Given the description of an element on the screen output the (x, y) to click on. 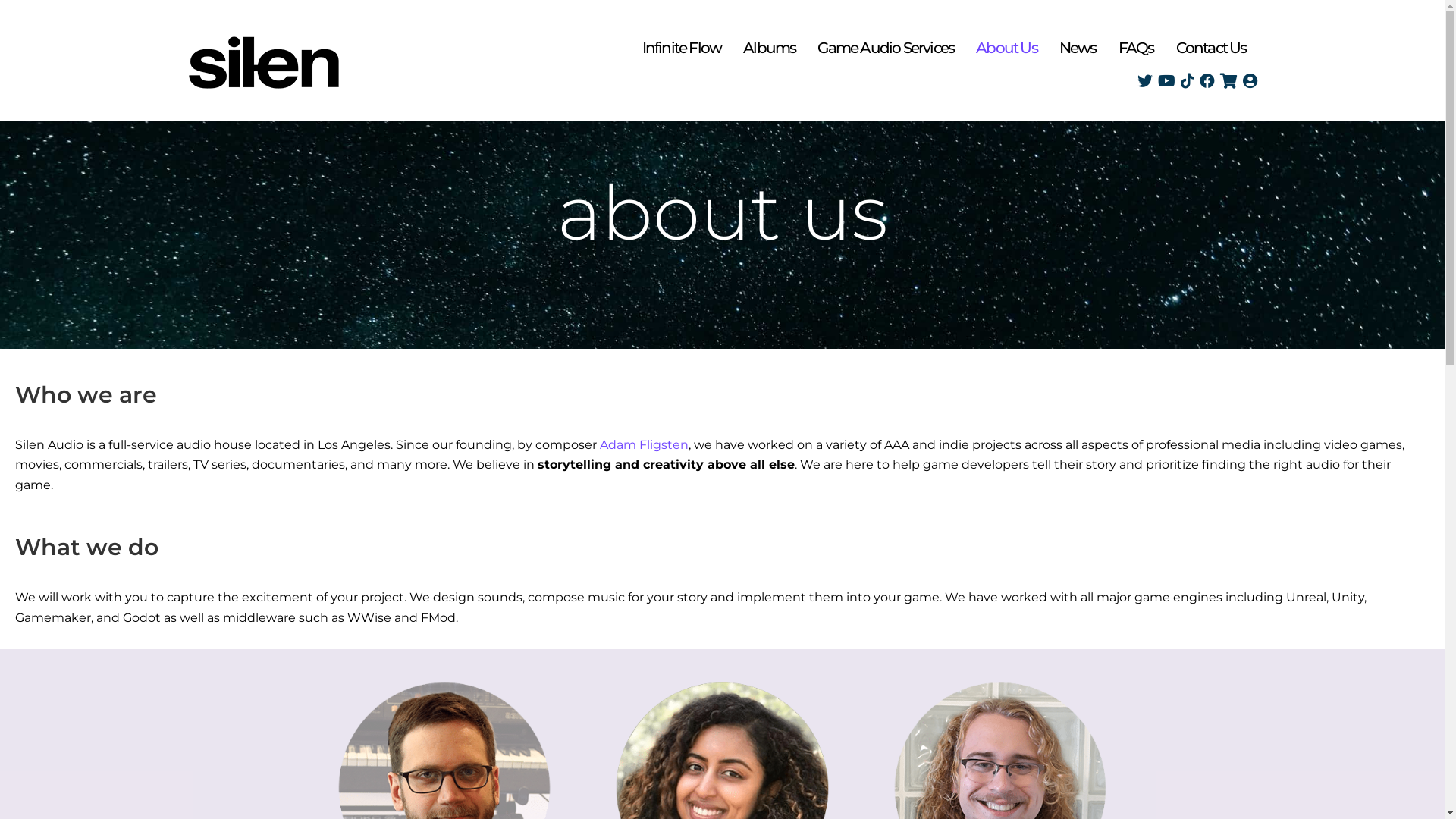
About Us Element type: text (1006, 46)
Adam Fligsten Element type: text (643, 444)
News Element type: text (1077, 46)
Infinite Flow Element type: text (681, 46)
silen-black-transparent_200px Element type: hover (263, 62)
Game Audio Services Element type: text (885, 46)
FAQs Element type: text (1135, 46)
Albums Element type: text (769, 46)
Contact Us Element type: text (1210, 46)
